Given the description of an element on the screen output the (x, y) to click on. 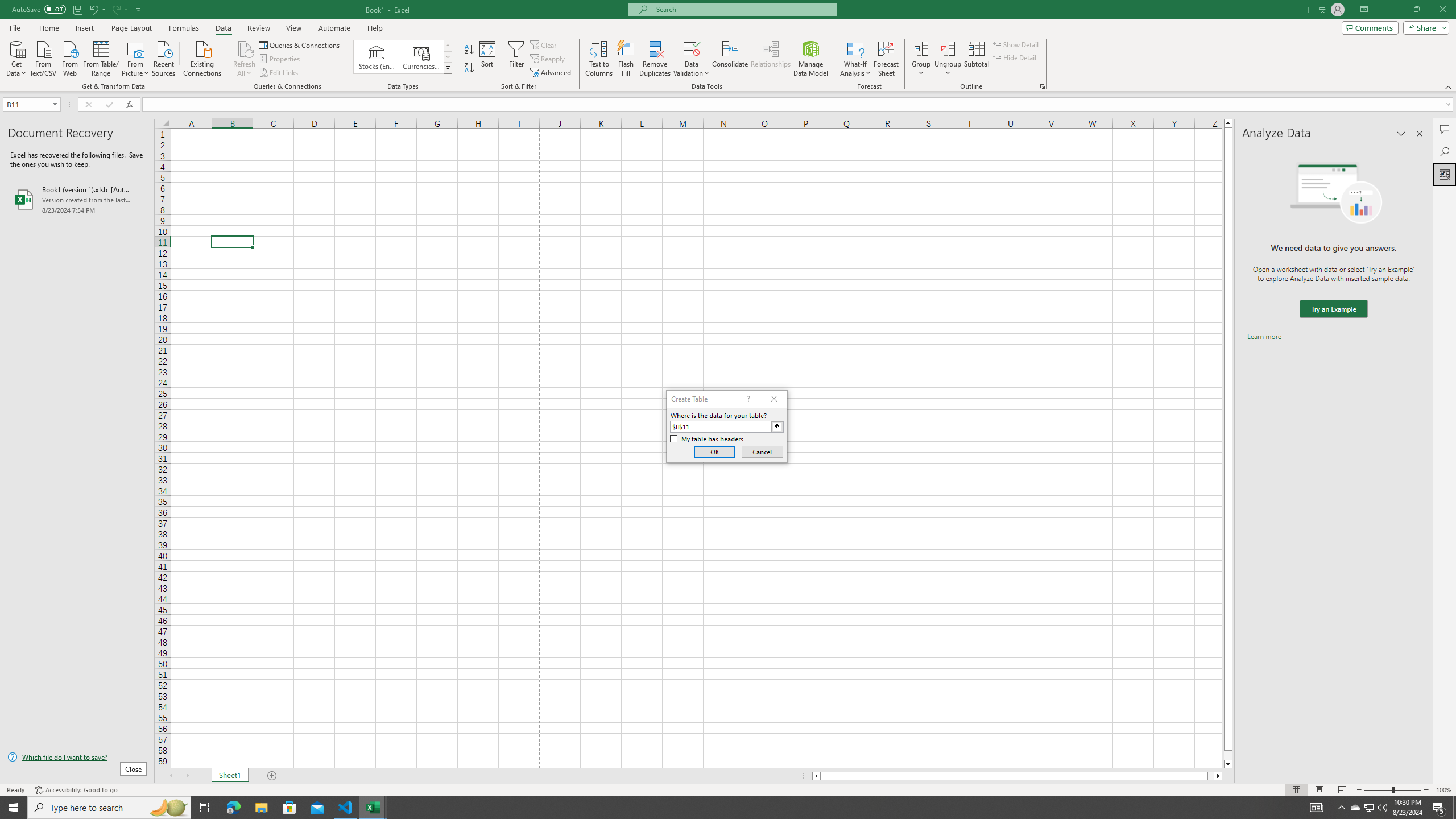
Edit Links (279, 72)
Relationships (770, 58)
Stocks (English) (375, 56)
Row Down (448, 56)
Clear (544, 44)
From Text/CSV (43, 57)
Advanced... (551, 72)
From Table/Range (100, 57)
